Given the description of an element on the screen output the (x, y) to click on. 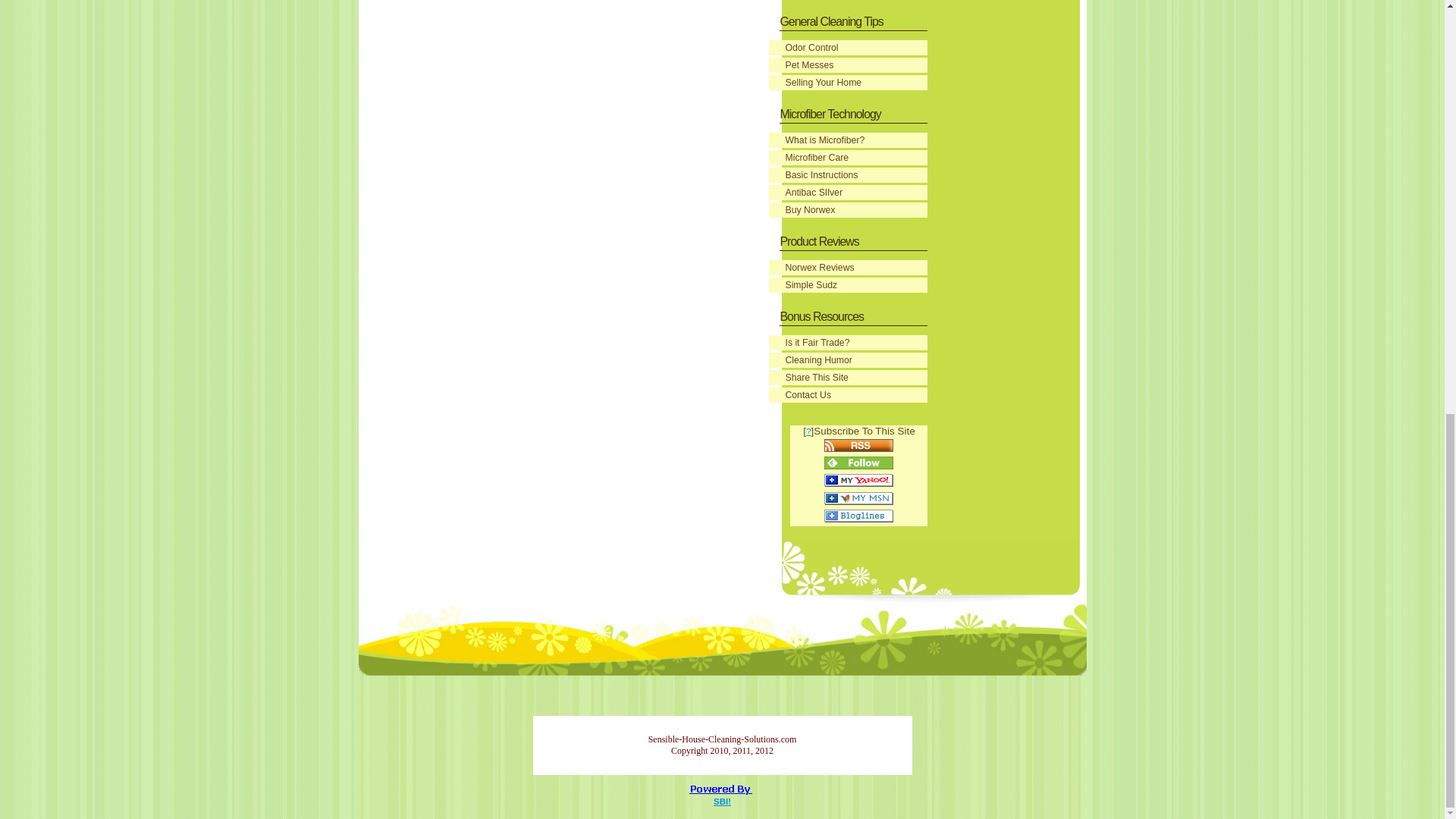
Basic Instructions (847, 174)
Antibac SIlver (847, 192)
What is Microfiber? (847, 140)
Pet Messes (847, 64)
Buy Norwex (847, 209)
Norwex Reviews (847, 267)
Microfiber Care (847, 157)
Odor Control (847, 47)
Selling Your Home (847, 82)
